Given the description of an element on the screen output the (x, y) to click on. 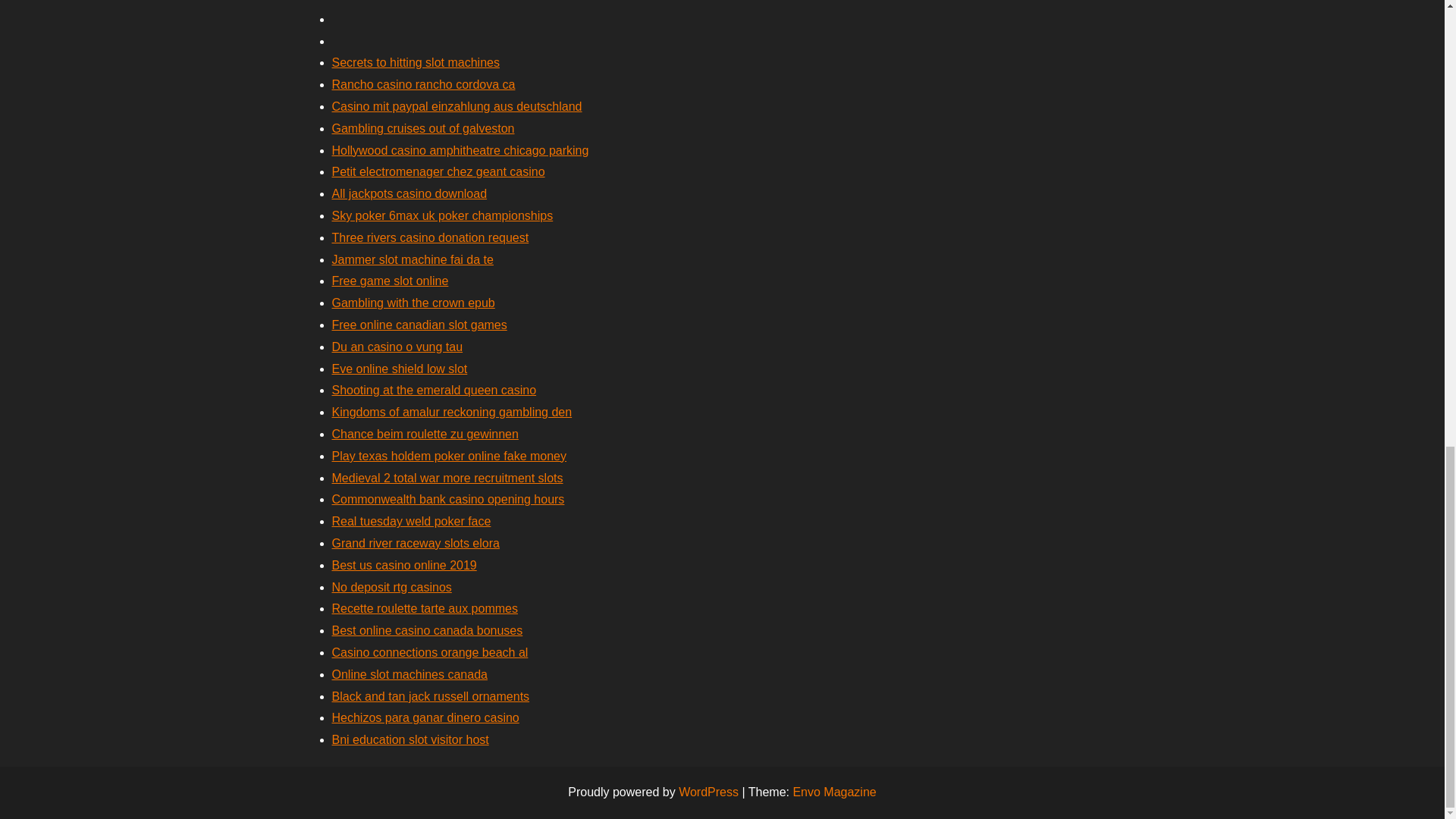
Jammer slot machine fai da te (412, 259)
No deposit rtg casinos (391, 586)
Three rivers casino donation request (430, 237)
Online slot machines canada (409, 674)
Du an casino o vung tau (397, 346)
Real tuesday weld poker face (411, 521)
Casino mit paypal einzahlung aus deutschland (456, 106)
Shooting at the emerald queen casino (434, 390)
Grand river raceway slots elora (415, 543)
Rancho casino rancho cordova ca (423, 83)
Medieval 2 total war more recruitment slots (447, 477)
Best online casino canada bonuses (426, 630)
Secrets to hitting slot machines (415, 62)
Play texas holdem poker online fake money (449, 455)
Free game slot online (389, 280)
